Given the description of an element on the screen output the (x, y) to click on. 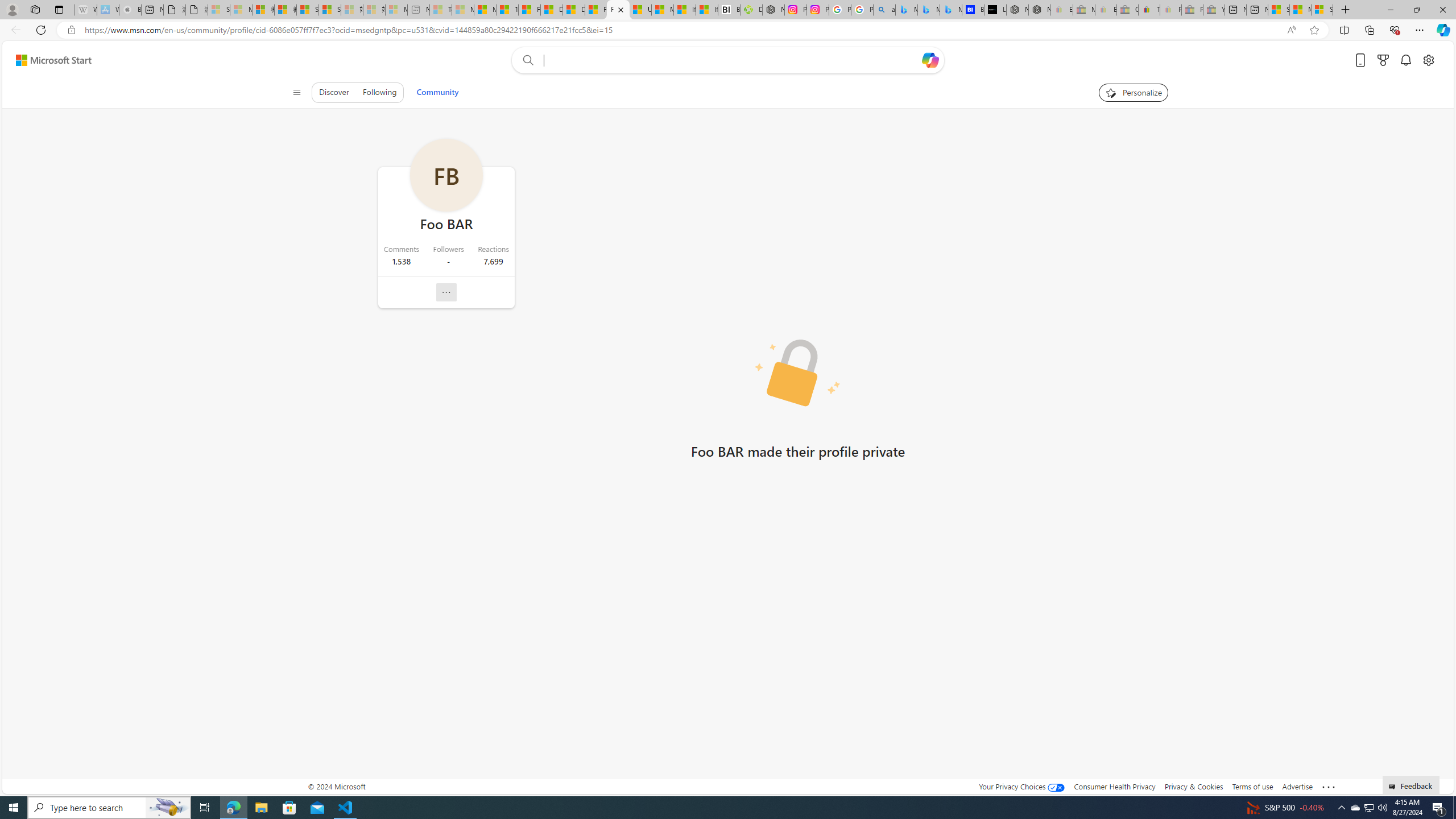
Drinking tea every day is proven to delay biological aging (573, 9)
Community (437, 92)
Community (437, 92)
Microsoft Services Agreement - Sleeping (241, 9)
Shanghai, China hourly forecast | Microsoft Weather (1278, 9)
